Given the description of an element on the screen output the (x, y) to click on. 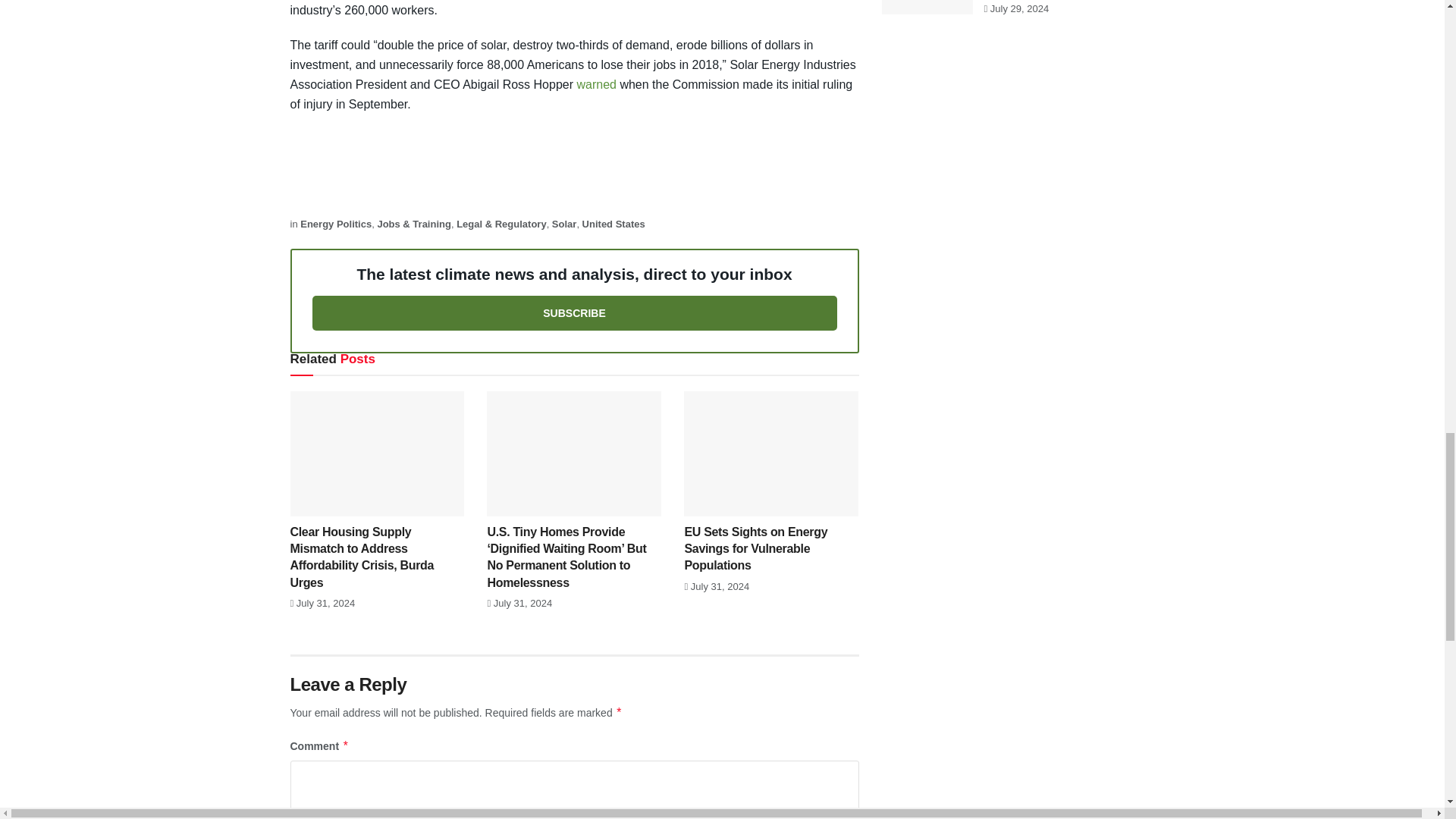
View Subscription Options (575, 312)
